Given the description of an element on the screen output the (x, y) to click on. 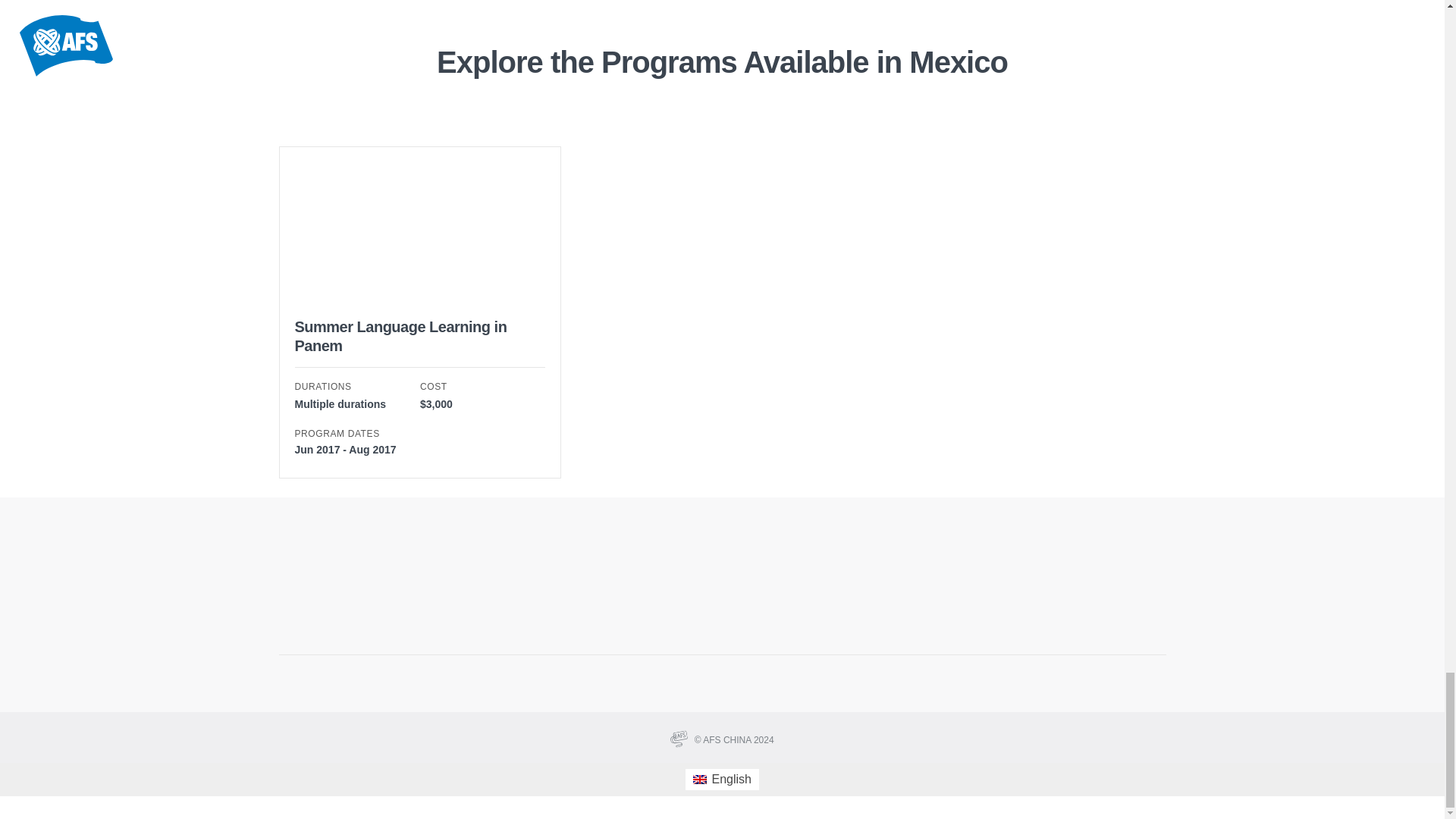
Summer Language Learning in Panem (400, 335)
